Given the description of an element on the screen output the (x, y) to click on. 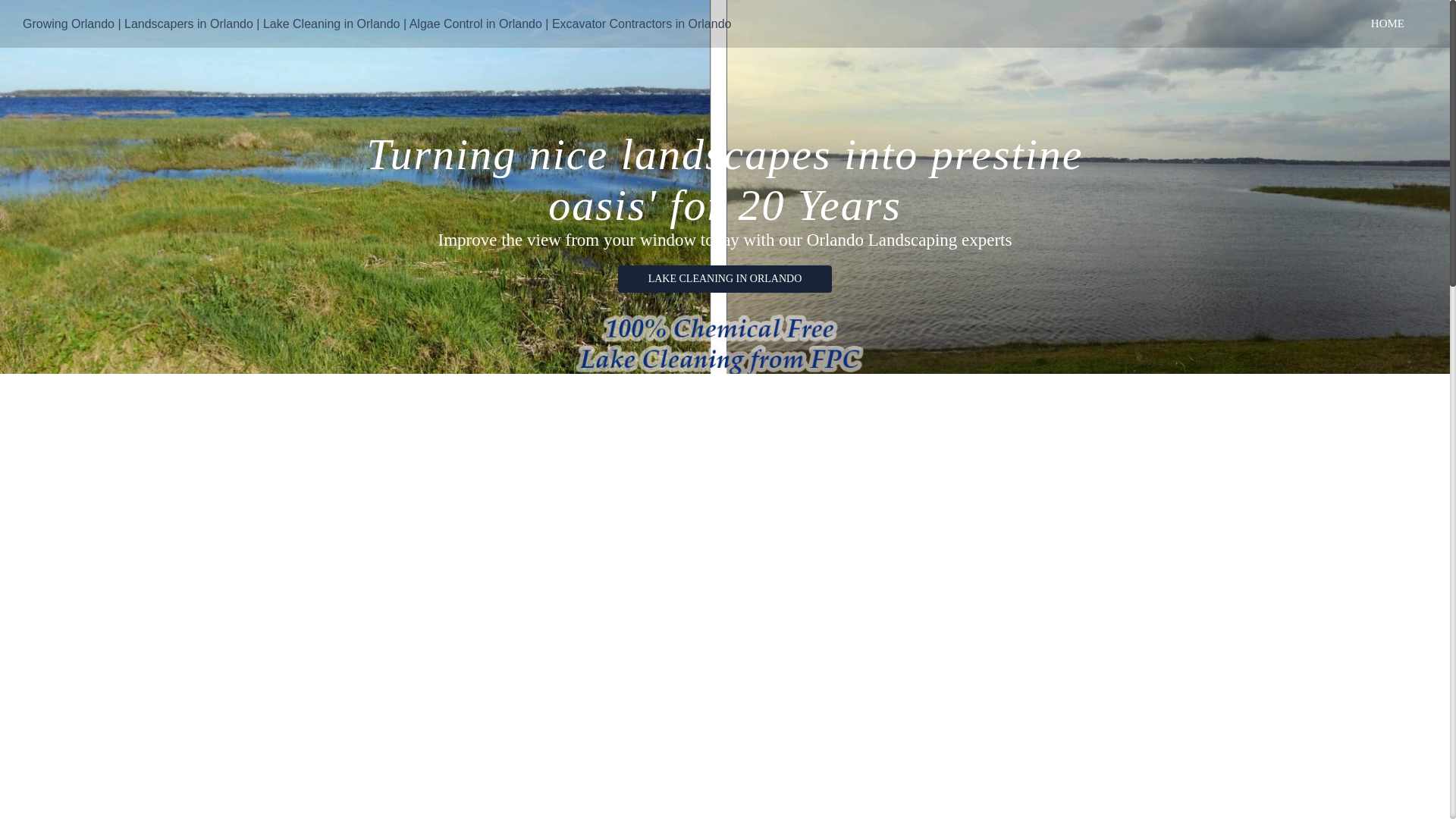
LAKE CLEANING IN ORLANDO (724, 271)
HOME (1387, 23)
